Given the description of an element on the screen output the (x, y) to click on. 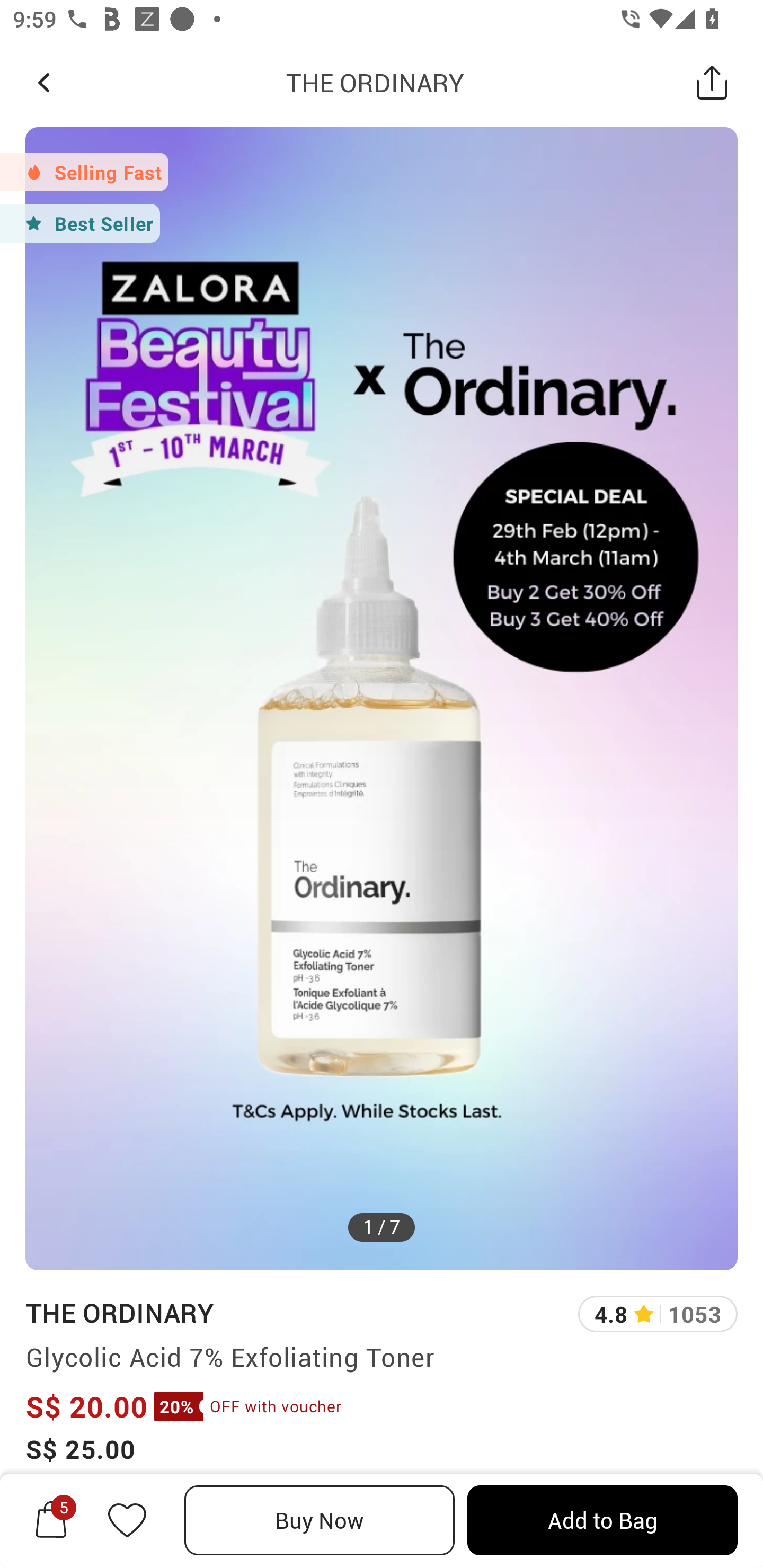
THE ORDINARY (375, 82)
Share this Product (711, 82)
THE ORDINARY (119, 1312)
4.8 1053 (657, 1313)
Buy Now (319, 1519)
Add to Bag (601, 1519)
5 (50, 1520)
